Given the description of an element on the screen output the (x, y) to click on. 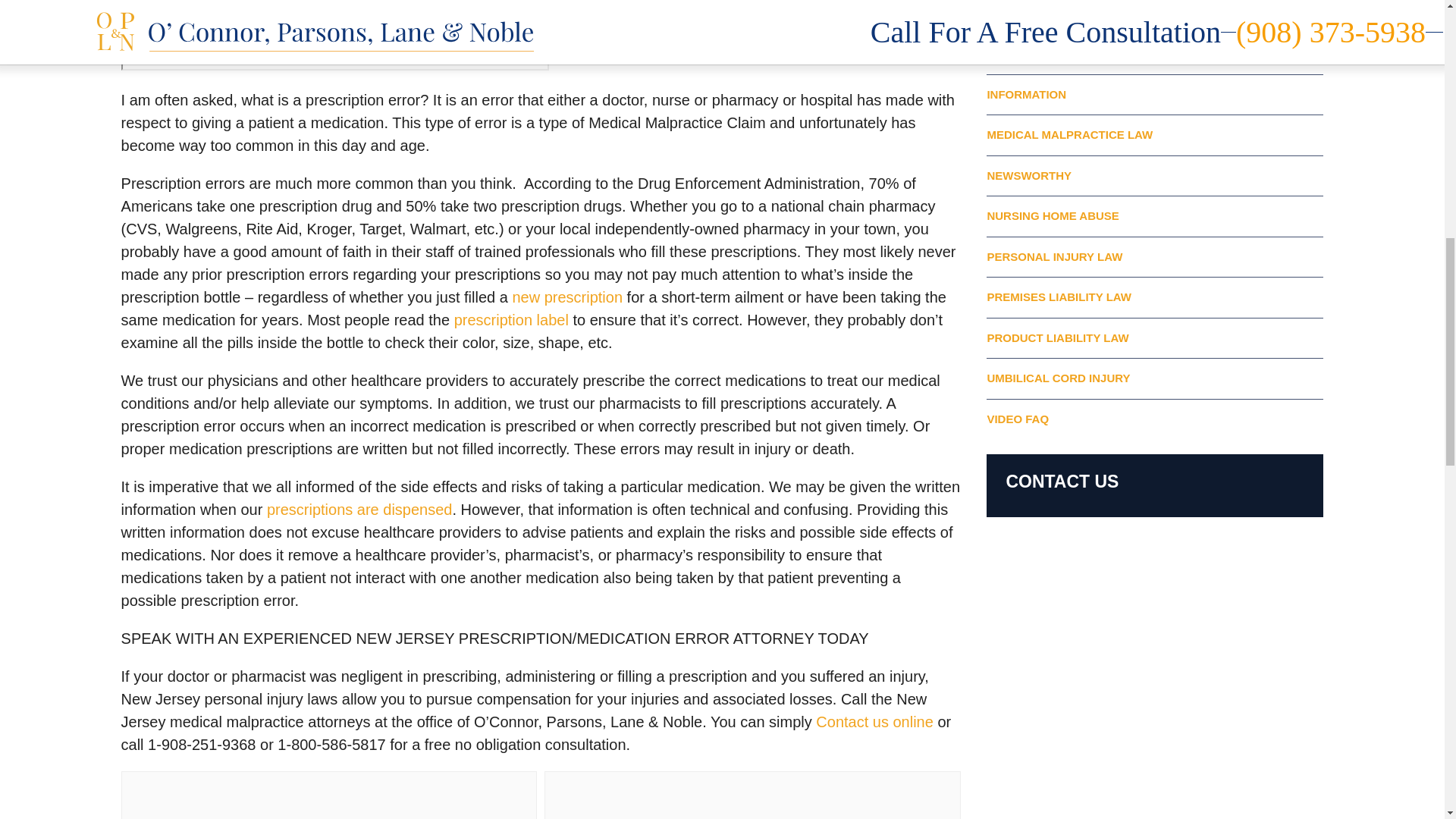
1 Star (360, 799)
